Given the description of an element on the screen output the (x, y) to click on. 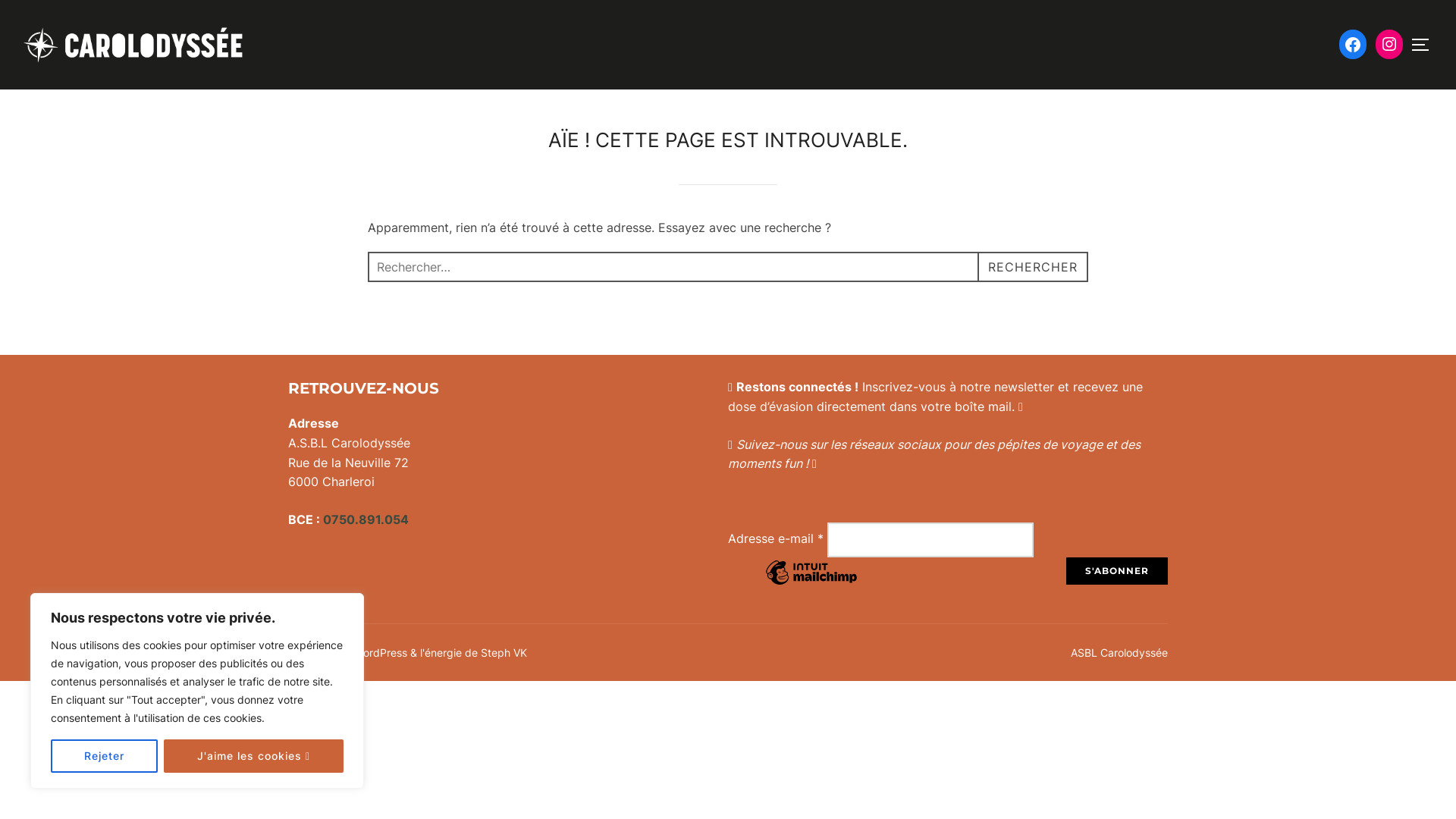
S'abonner Element type: text (1116, 570)
RECHERCHER Element type: text (1032, 266)
0750.891.054 Element type: text (365, 519)
Instagram Element type: text (1388, 43)
Facebook Element type: text (1352, 44)
Rejeter Element type: text (103, 755)
